Given the description of an element on the screen output the (x, y) to click on. 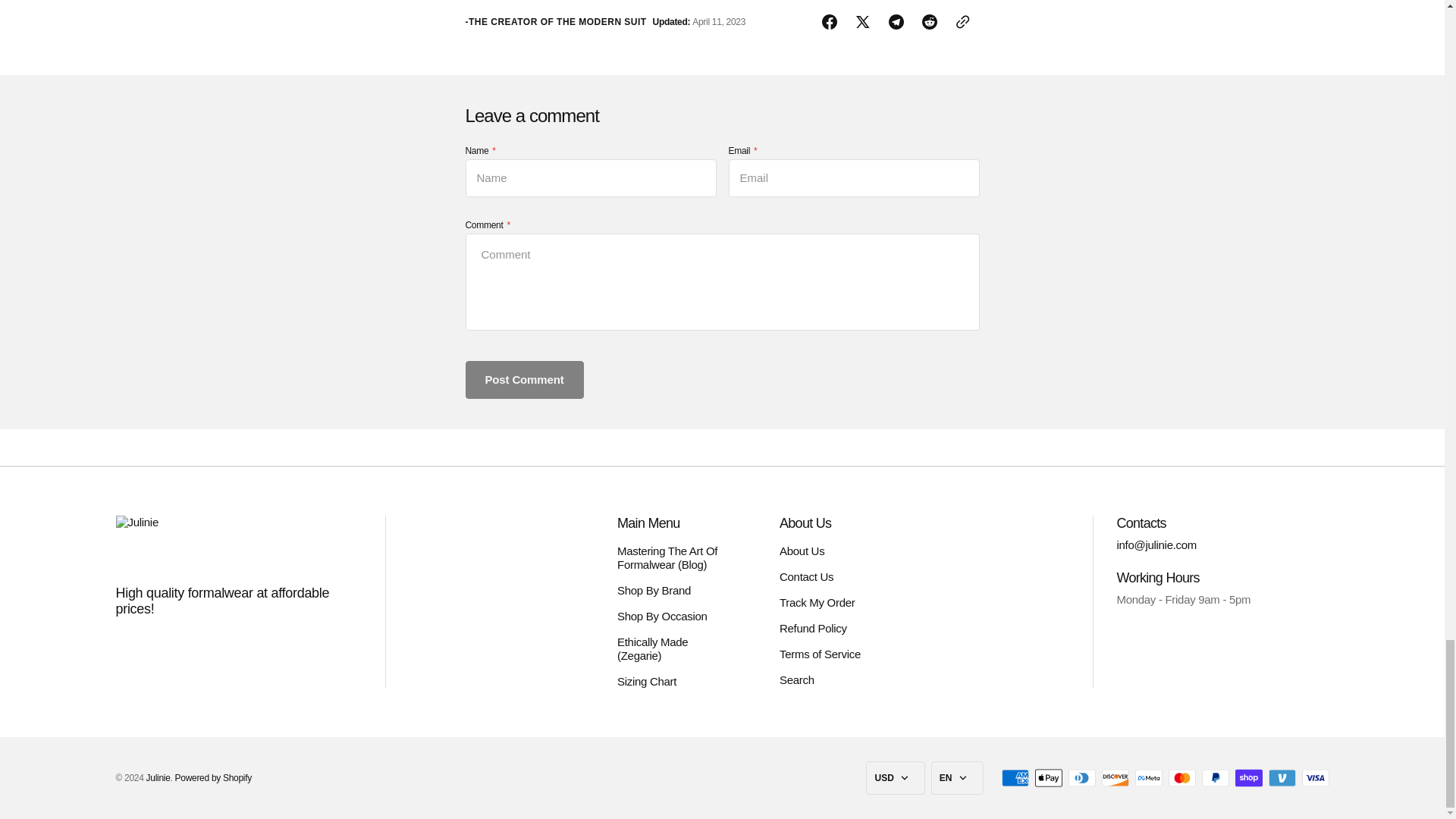
Post Comment (524, 379)
-The Creator of the Modern Suit (555, 21)
-THE CREATOR OF THE MODERN SUIT (555, 21)
